Given the description of an element on the screen output the (x, y) to click on. 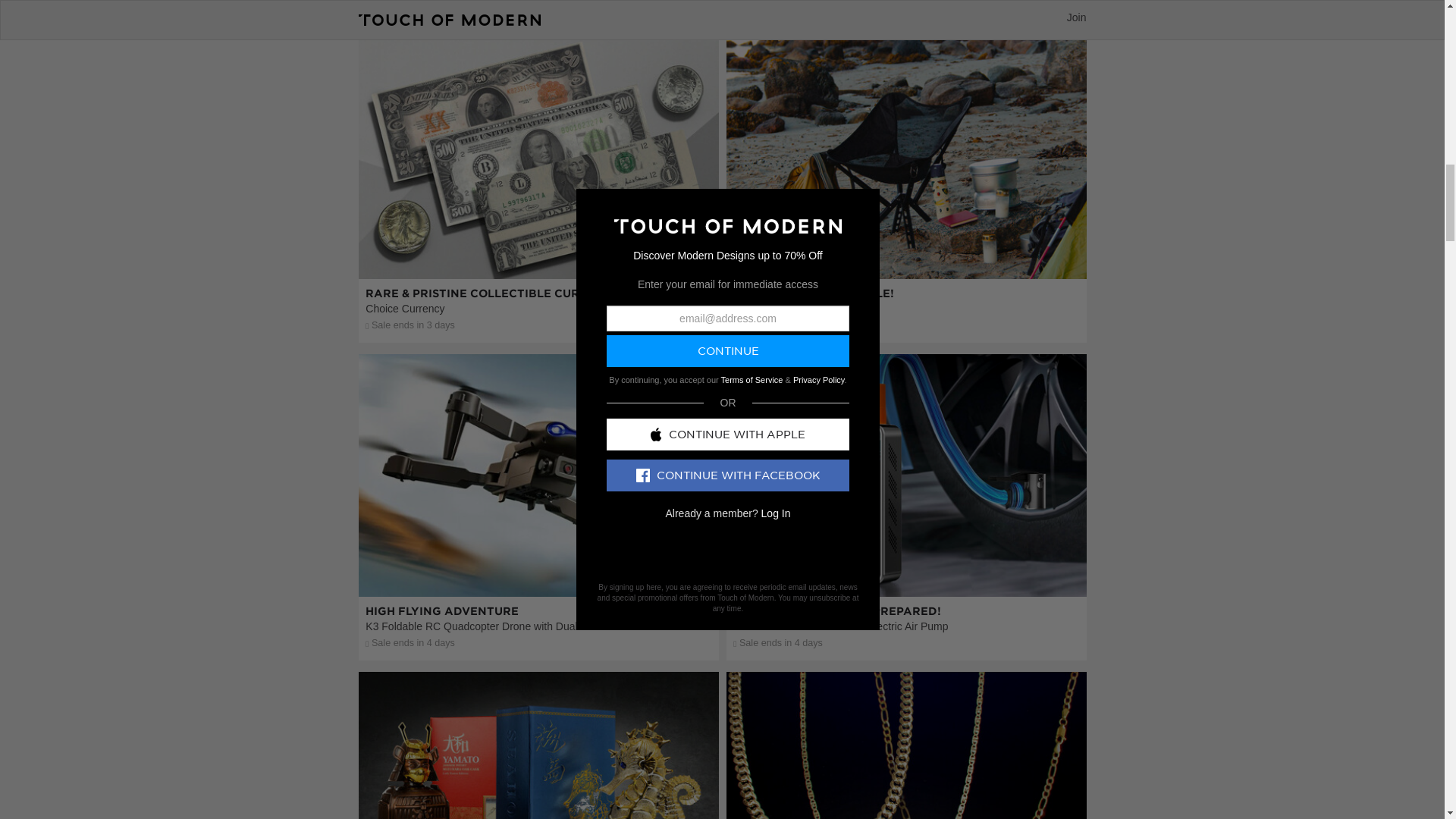
The Dram Less Traveled (537, 802)
Unbelievably Portable! (906, 246)
It's A Bling Thing (906, 802)
High Flying Adventure (537, 564)
Don't Get Caught Unprepared! (906, 564)
The Season's Best Basics (906, 12)
